Given the description of an element on the screen output the (x, y) to click on. 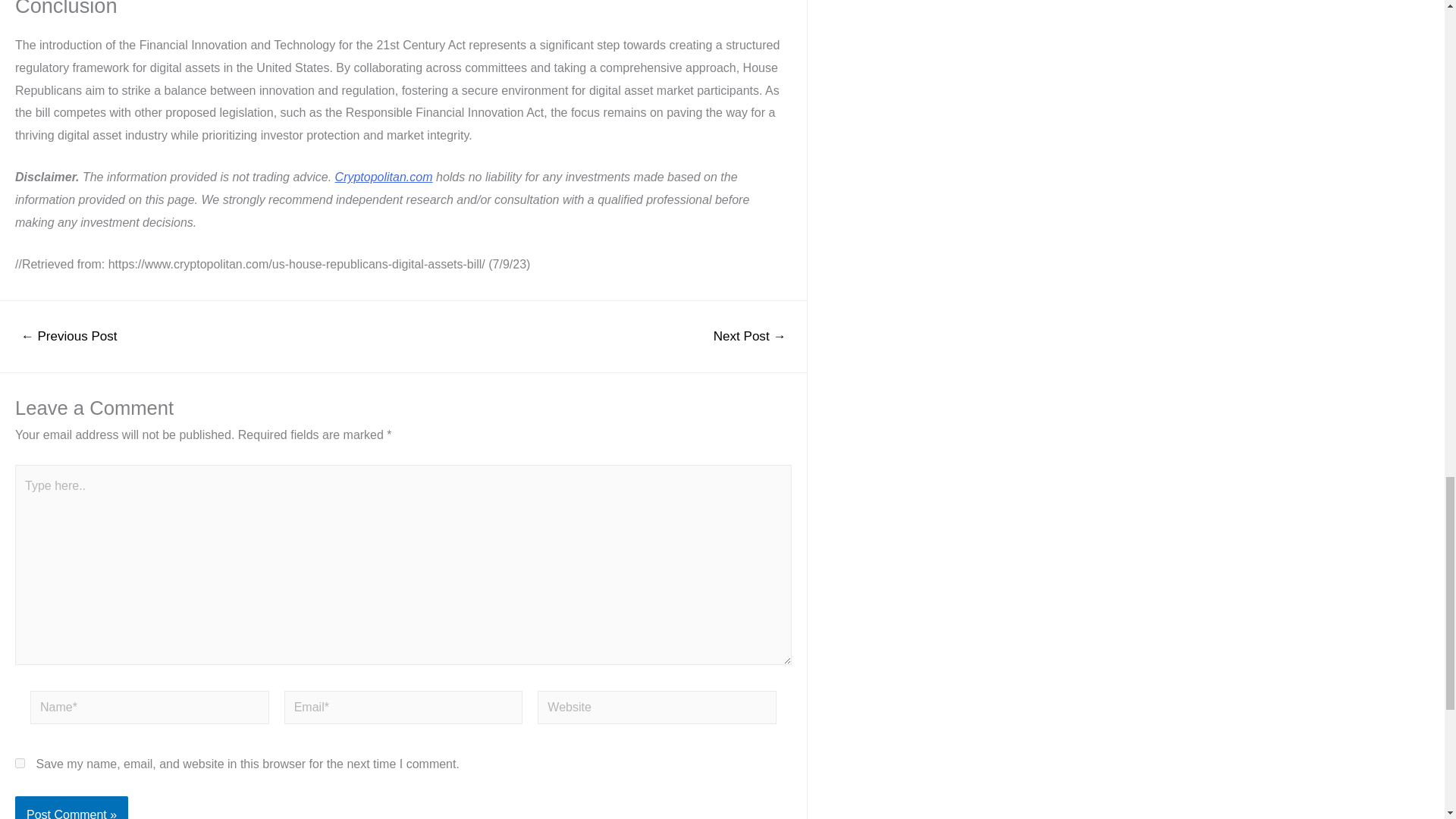
yes (19, 763)
